Given the description of an element on the screen output the (x, y) to click on. 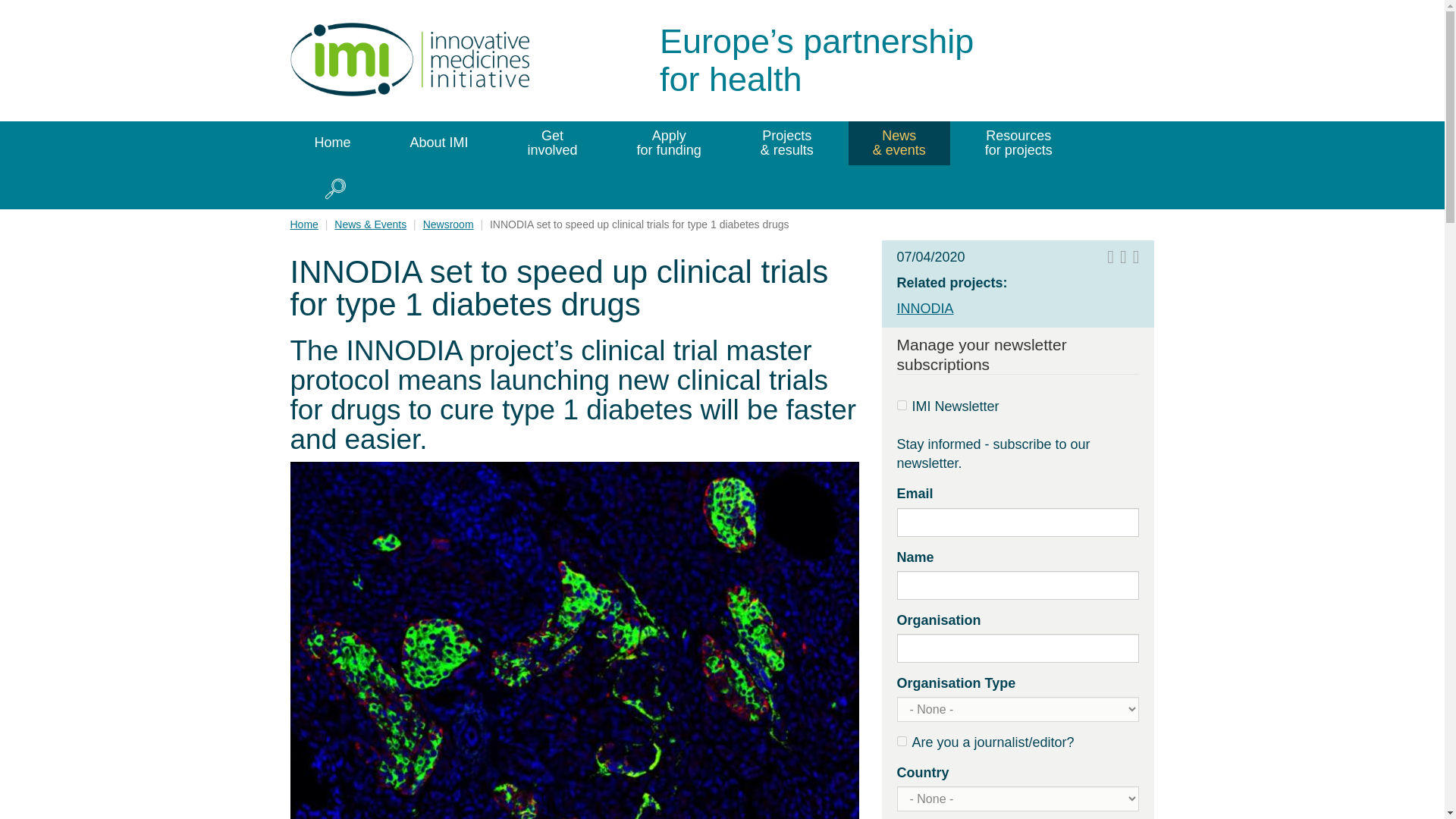
Home (331, 143)
Your full name (1017, 584)
About IMI (439, 143)
1 (900, 741)
The subscriber's email address. (1017, 522)
Home (425, 59)
Name of organisation (1017, 647)
